Given the description of an element on the screen output the (x, y) to click on. 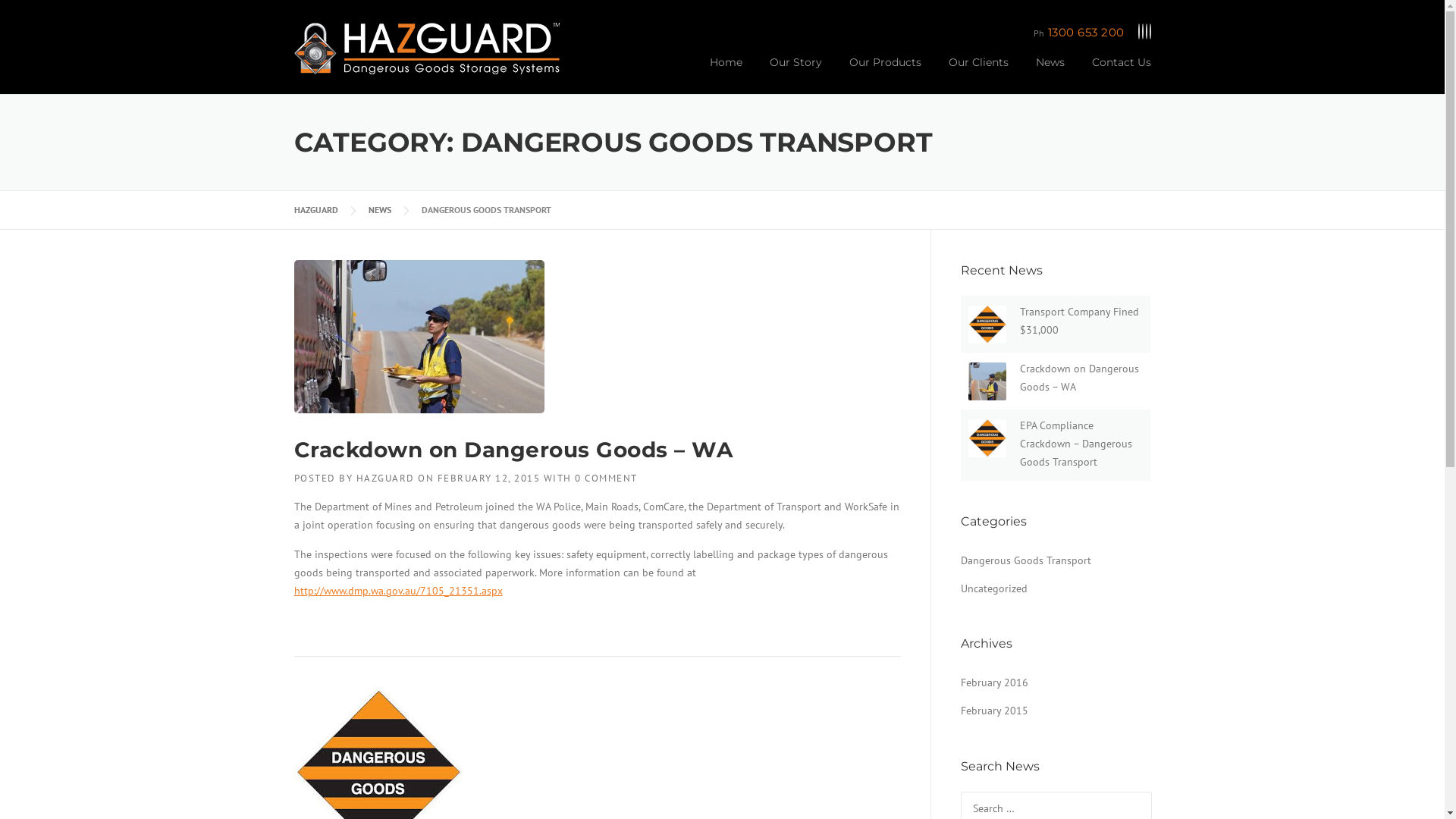
News Element type: text (1050, 73)
FEBRUARY 12, 2015 Element type: text (487, 477)
Email Element type: hover (1150, 31)
Linkedin Element type: hover (1142, 31)
Facebook Element type: hover (1138, 31)
Our Products Element type: text (885, 73)
Contact Us Element type: text (1114, 73)
HazGuard Element type: hover (426, 47)
Home Element type: text (726, 73)
Our Clients Element type: text (977, 73)
Uncategorized Element type: text (993, 588)
Skip to content Element type: text (35, 9)
Transport Company Fined $31,000 Element type: text (1078, 320)
February 2015 Element type: text (993, 710)
Search Element type: text (36, 17)
HAZGUARD Element type: text (316, 209)
http://www.dmp.wa.gov.au/7105_21351.aspx Element type: text (398, 590)
Google Plus Element type: hover (1145, 31)
February 2016 Element type: text (993, 682)
HAZGUARD Element type: text (385, 477)
NEWS Element type: text (379, 209)
Our Story Element type: text (794, 73)
0 COMMENT Element type: text (605, 477)
Dangerous Goods Transport Element type: text (1025, 560)
